Given the description of an element on the screen output the (x, y) to click on. 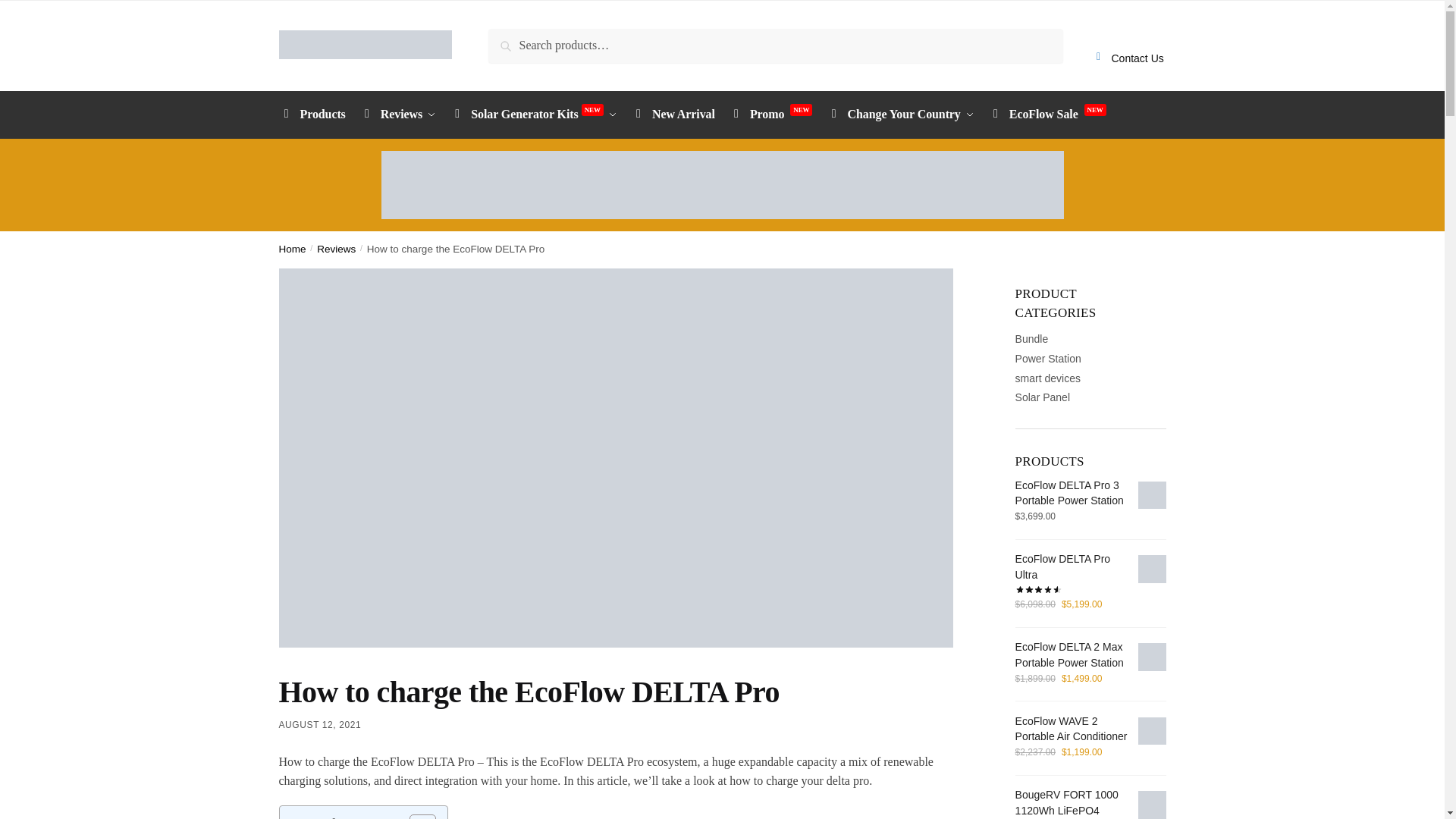
Reviews (336, 248)
Solar Generator KitsNEW (532, 114)
Search (509, 38)
Contact Us (1127, 45)
New Arrival (672, 114)
EcoFlow Sale NEW (1047, 114)
Home (292, 248)
Promo NEW (770, 114)
Products (315, 114)
Reviews (397, 114)
